Given the description of an element on the screen output the (x, y) to click on. 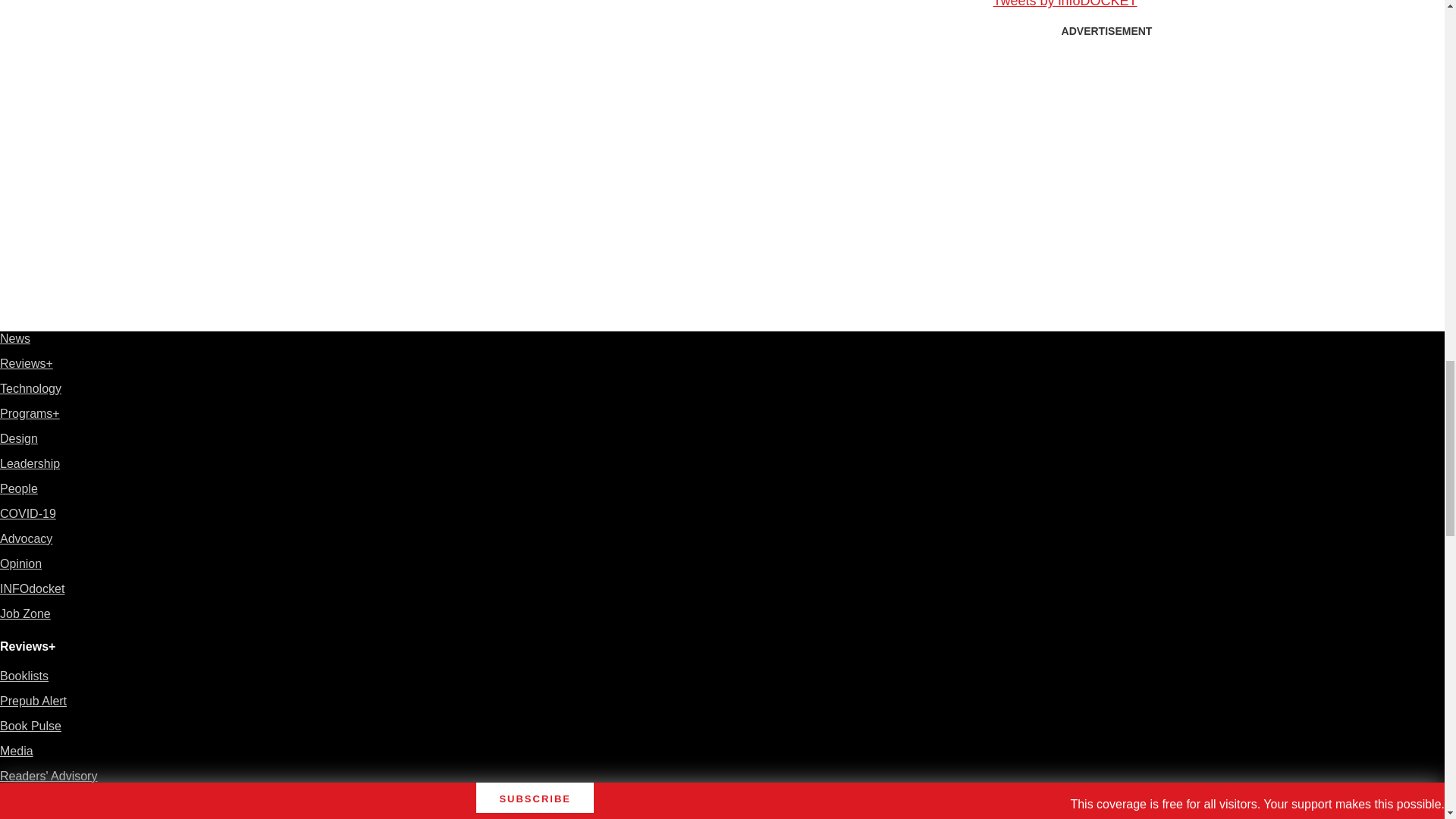
3rd party ad content (1106, 140)
